Given the description of an element on the screen output the (x, y) to click on. 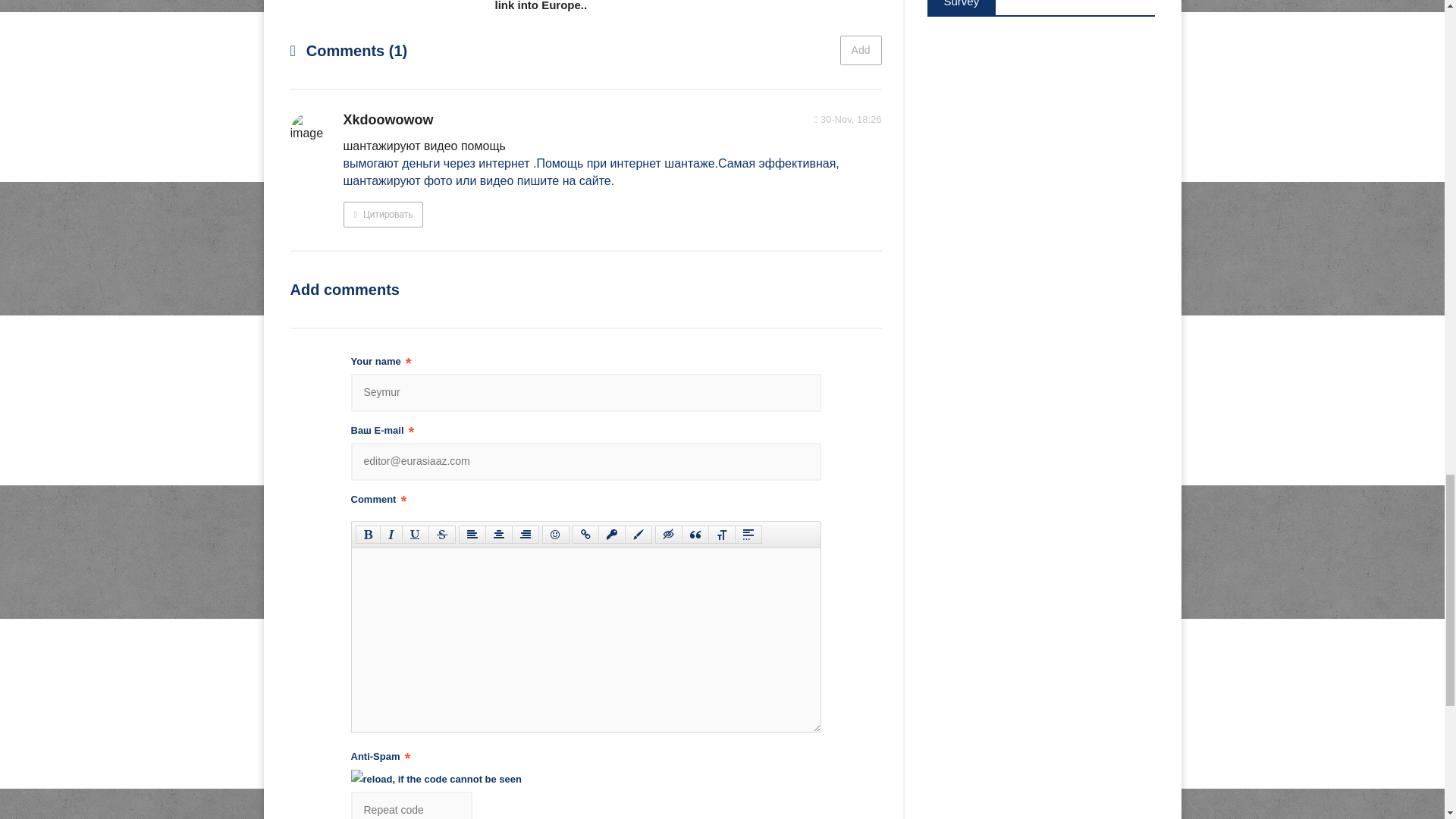
Hidden text (668, 534)
Align center (498, 534)
Underline (415, 534)
Select color (638, 534)
Align left (471, 534)
Insert protected link (610, 534)
Insert spoiler (747, 534)
Insert emoticons (555, 534)
Align right (524, 534)
Strikethrough (441, 534)
Insert link (585, 534)
Italic (389, 534)
Bold (367, 534)
Insert quote (694, 534)
